Given the description of an element on the screen output the (x, y) to click on. 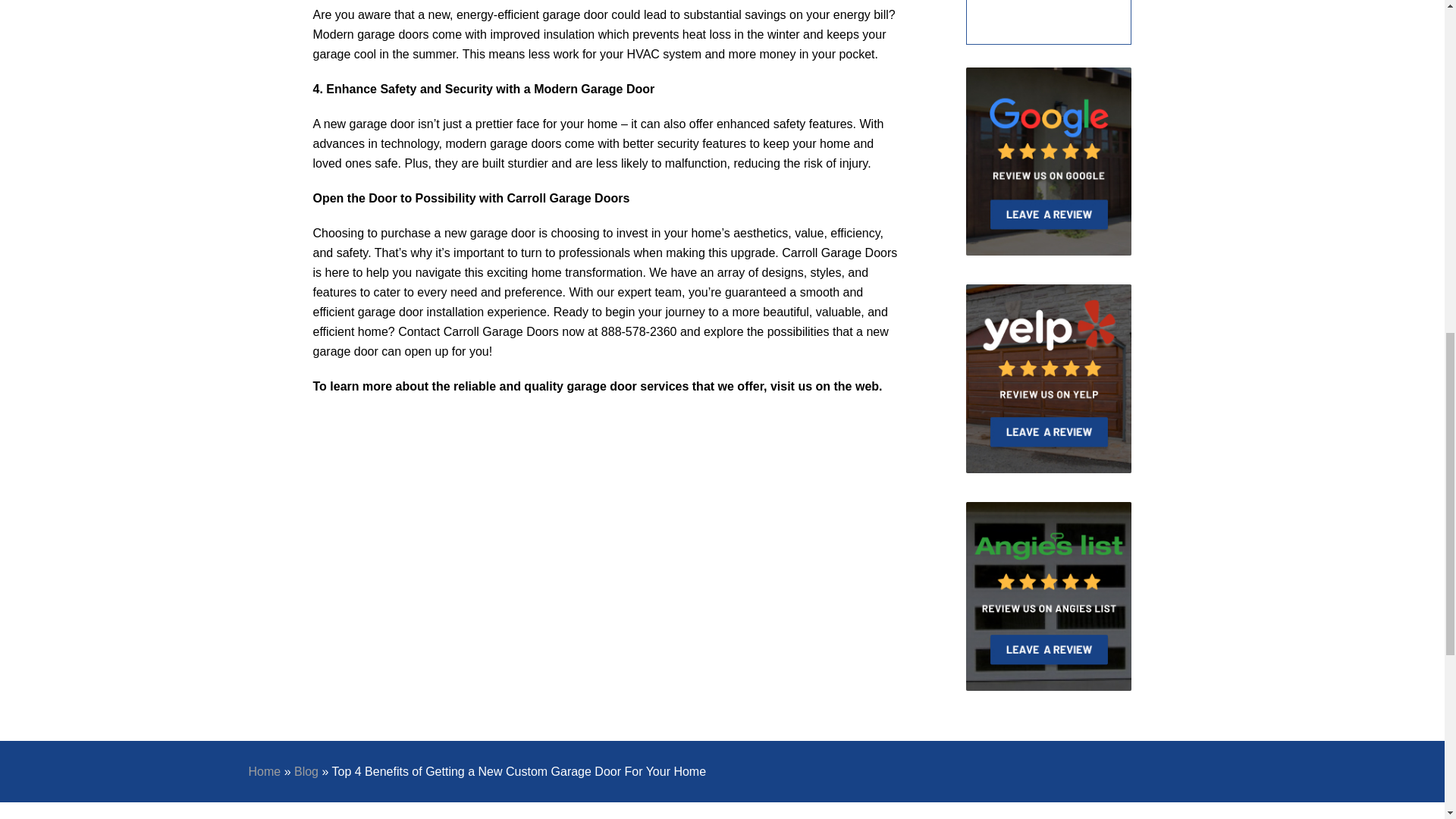
Website Design Los Angeles CA (1063, 254)
Home (264, 771)
Blog (306, 771)
